Given the description of an element on the screen output the (x, y) to click on. 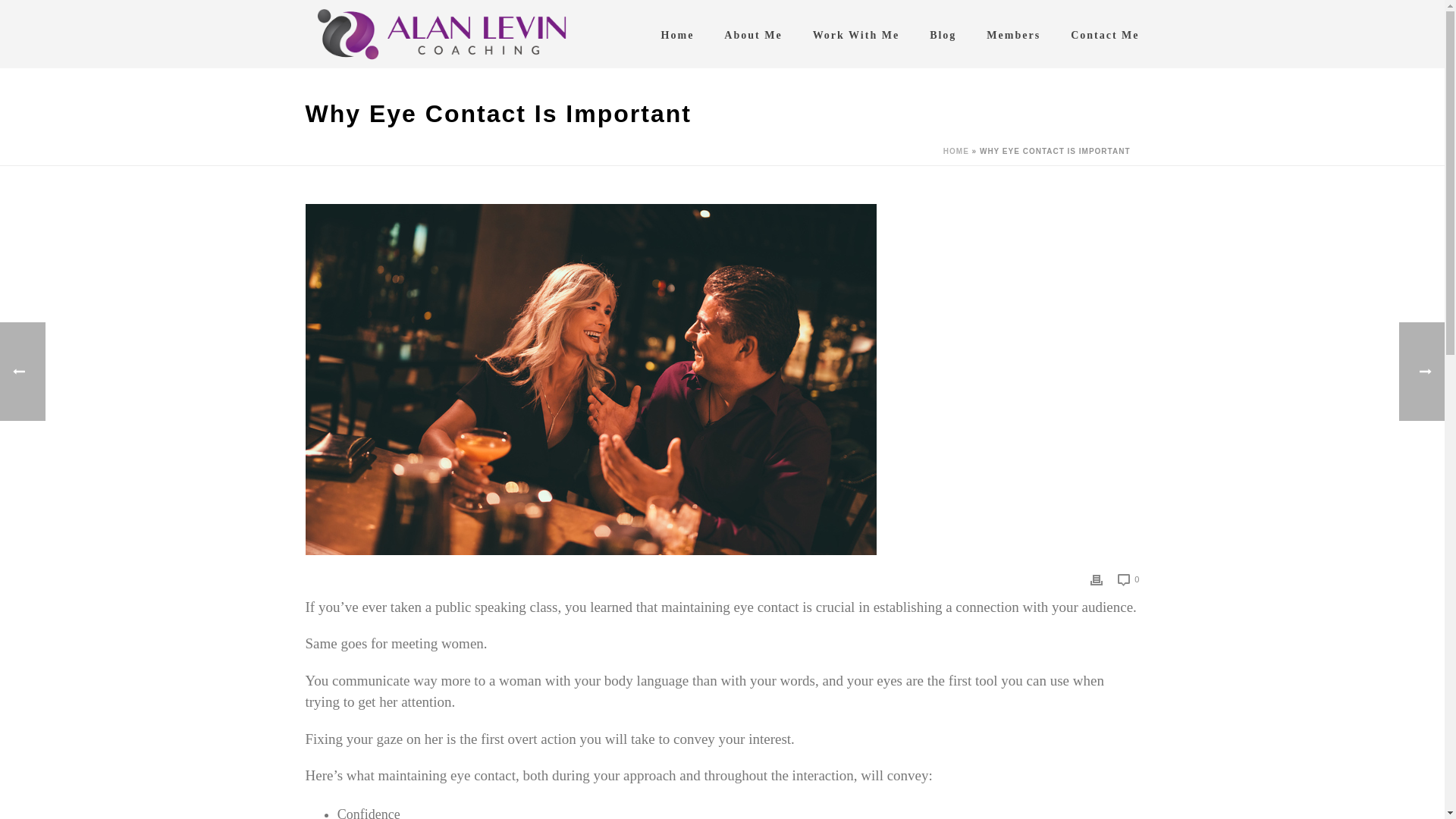
Helping Men Take Back Control of their Dating Life (441, 33)
Work With Me (856, 33)
Members (1013, 33)
Contact Me (1104, 33)
Work With Me (856, 33)
Contact Me (1104, 33)
HOME (956, 151)
